Given the description of an element on the screen output the (x, y) to click on. 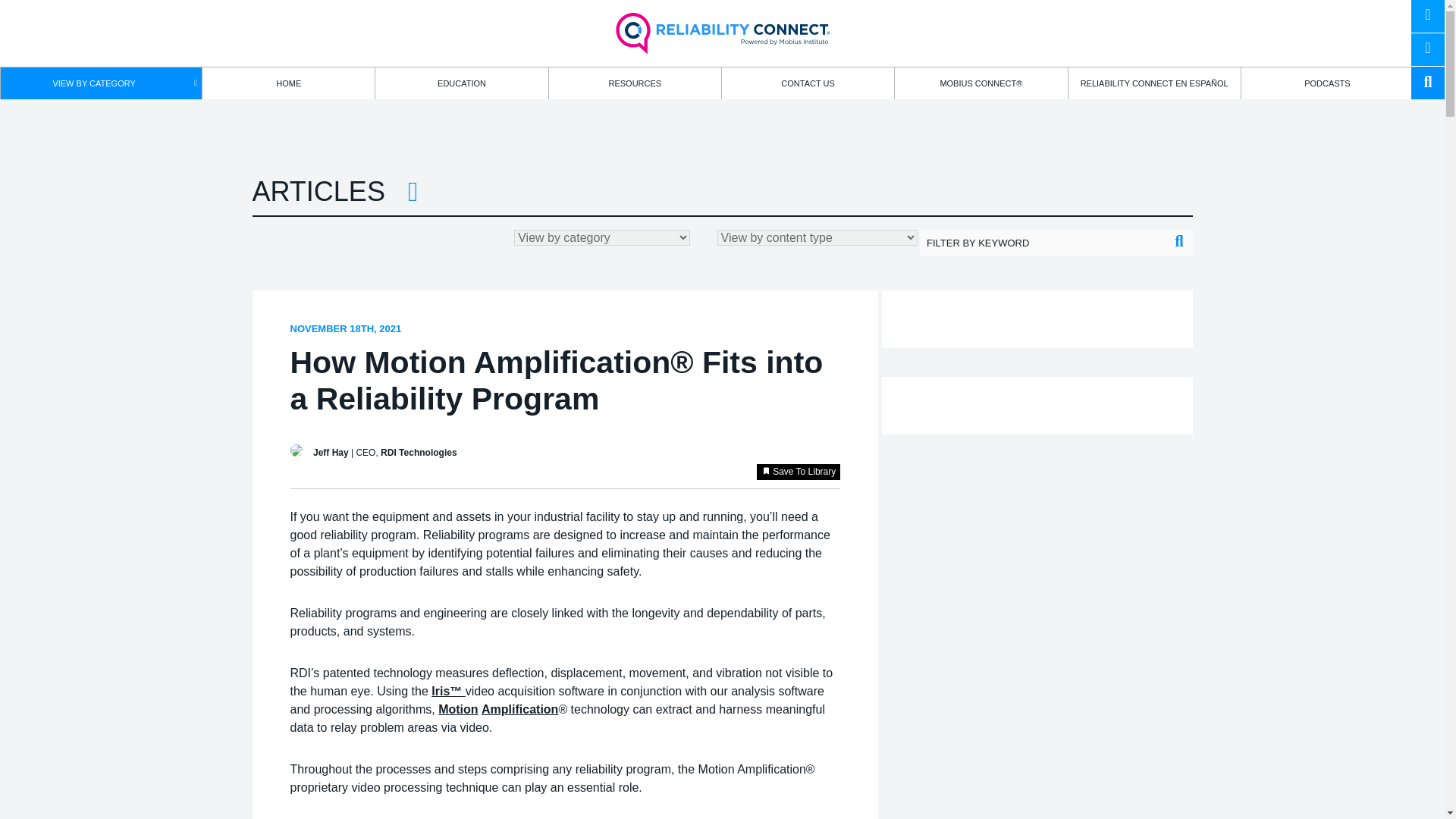
EDUCATION (461, 83)
HOME (288, 83)
VIEW BY CATEGORY (101, 83)
